Given the description of an element on the screen output the (x, y) to click on. 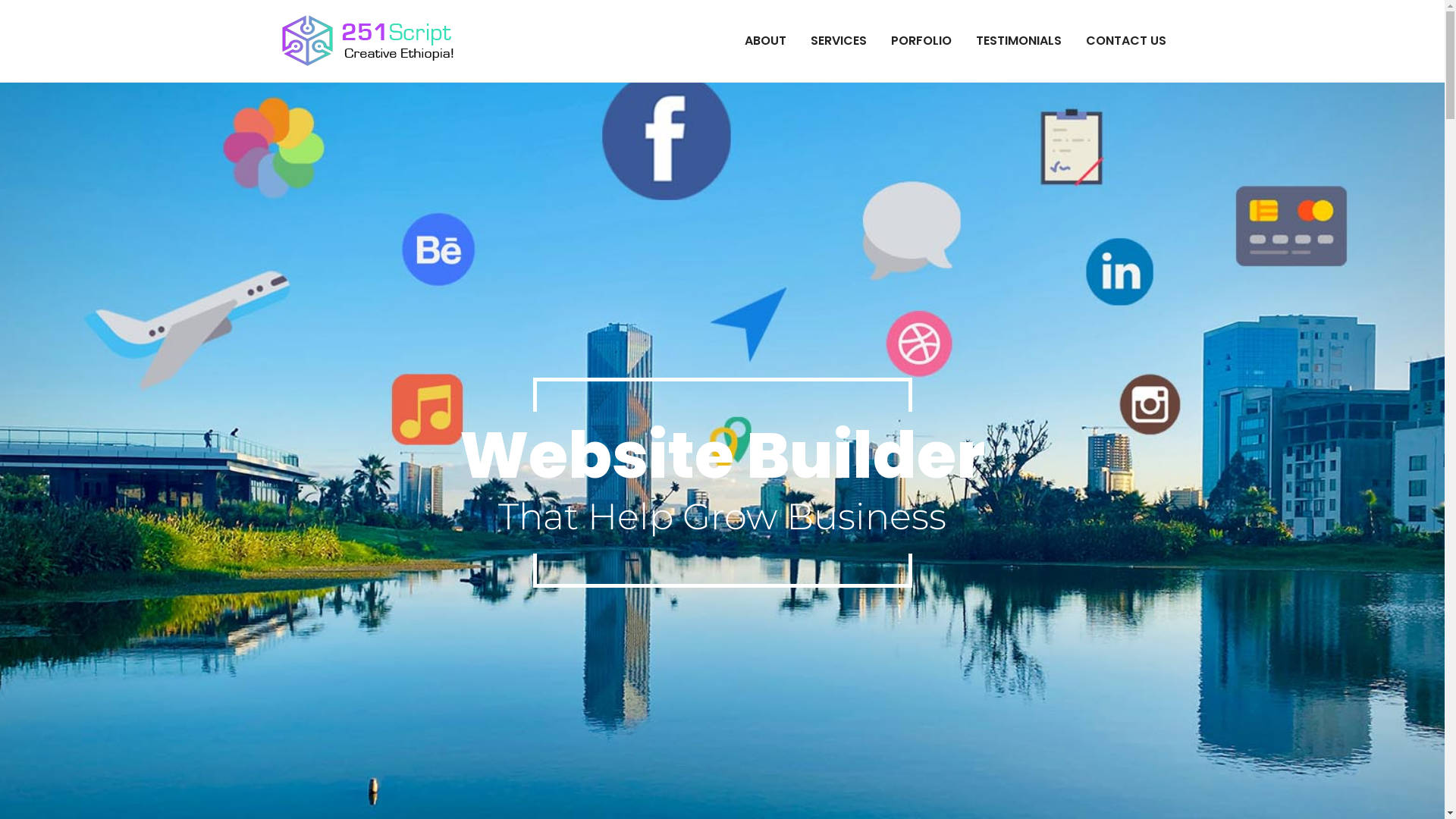
SERVICES Element type: text (837, 41)
TESTIMONIALS Element type: text (1017, 41)
ABOUT Element type: text (765, 41)
CONTACT US Element type: text (1125, 41)
251 Script Element type: text (527, 57)
PORFOLIO Element type: text (920, 41)
